Given the description of an element on the screen output the (x, y) to click on. 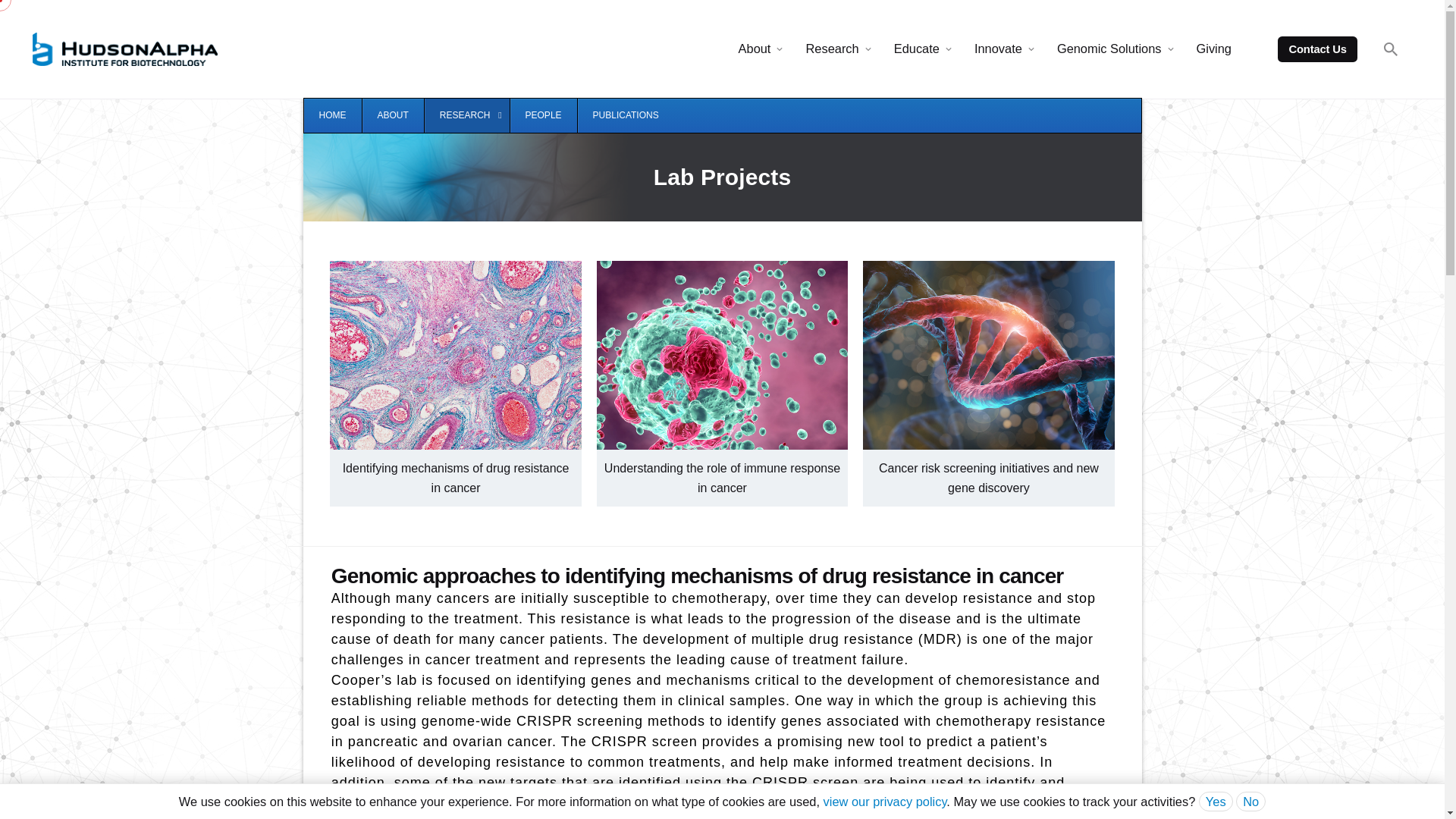
About (754, 49)
Research (831, 49)
